Given the description of an element on the screen output the (x, y) to click on. 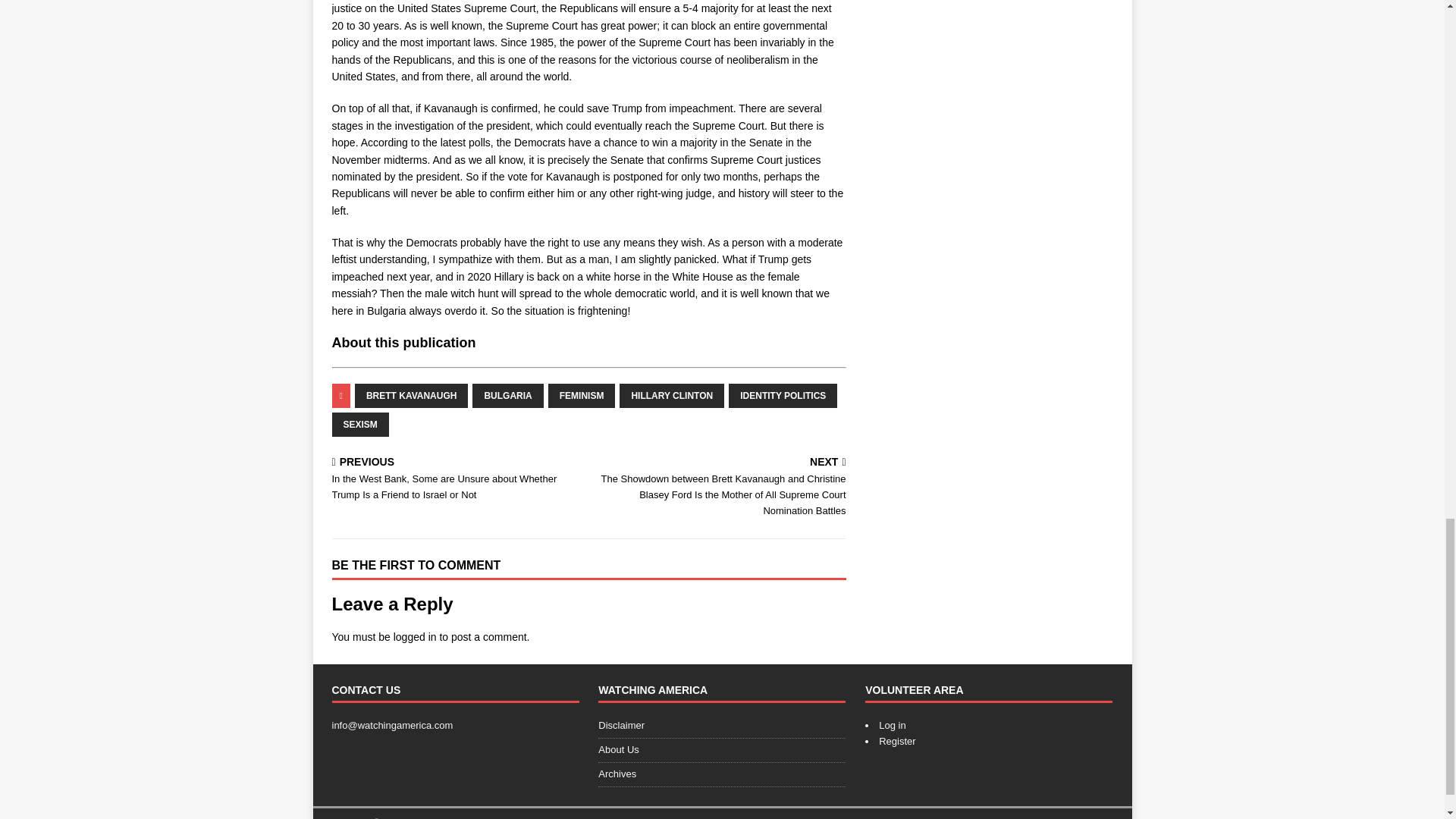
logged in (414, 636)
SEXISM (359, 424)
FEMINISM (581, 395)
BRETT KAVANAUGH (411, 395)
HILLARY CLINTON (671, 395)
BULGARIA (507, 395)
IDENTITY POLITICS (783, 395)
